Given the description of an element on the screen output the (x, y) to click on. 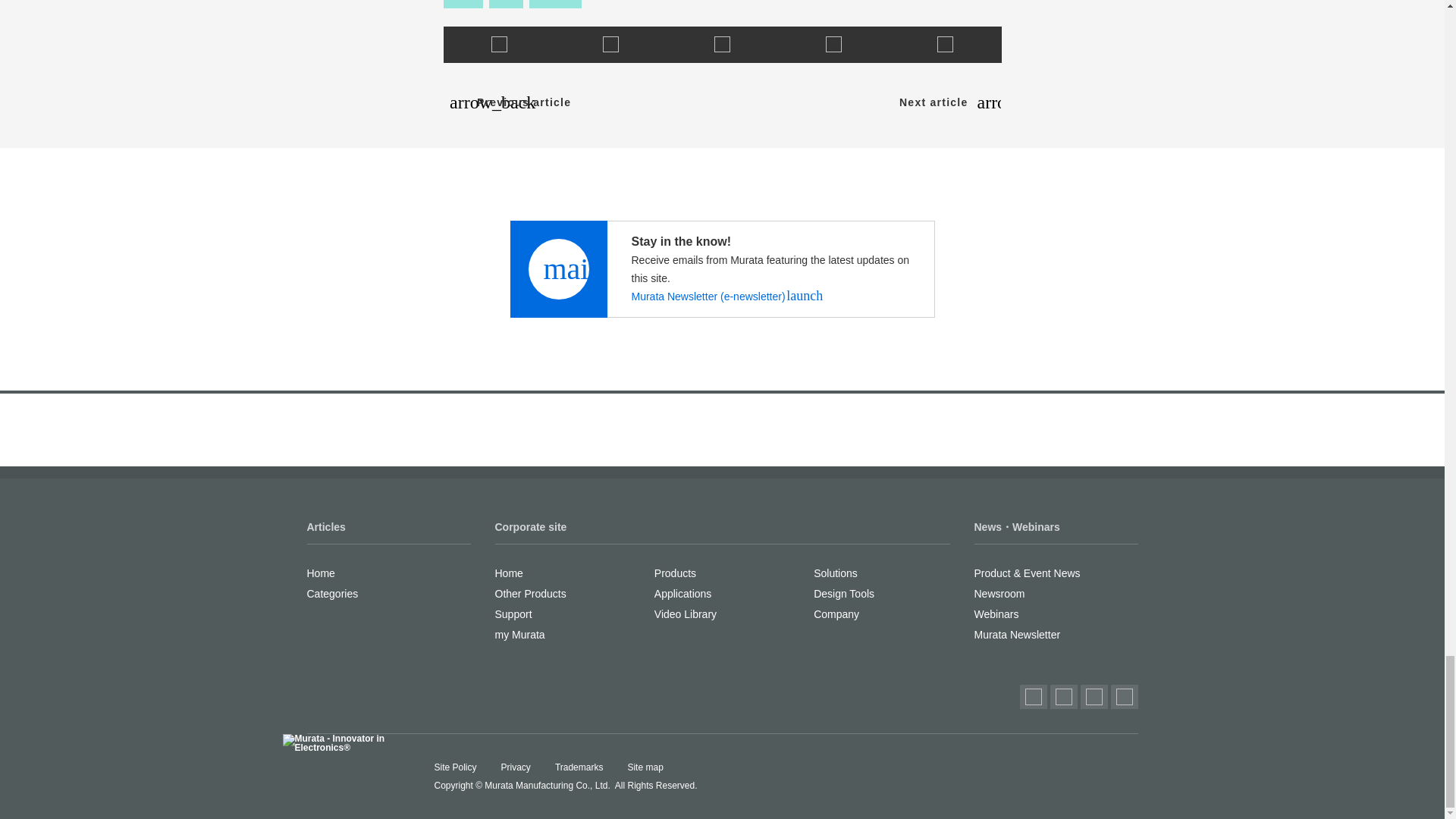
IoT (461, 4)
Robot (554, 4)
AI (505, 4)
